Given the description of an element on the screen output the (x, y) to click on. 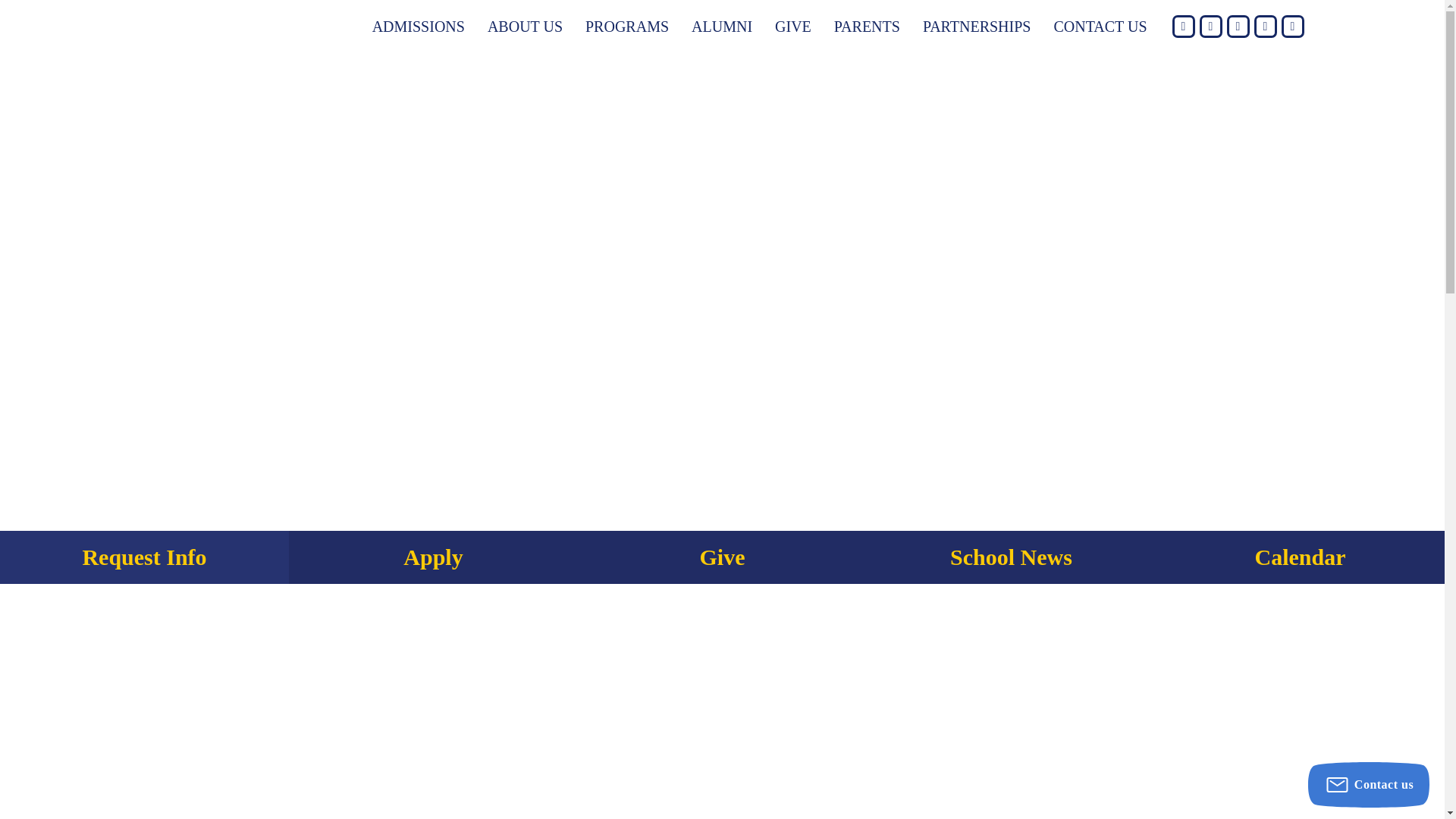
PARENTS (866, 26)
ABOUT US (524, 26)
GIVE (792, 26)
PROGRAMS (626, 26)
ADMISSIONS (418, 26)
ALUMNI (721, 26)
